Given the description of an element on the screen output the (x, y) to click on. 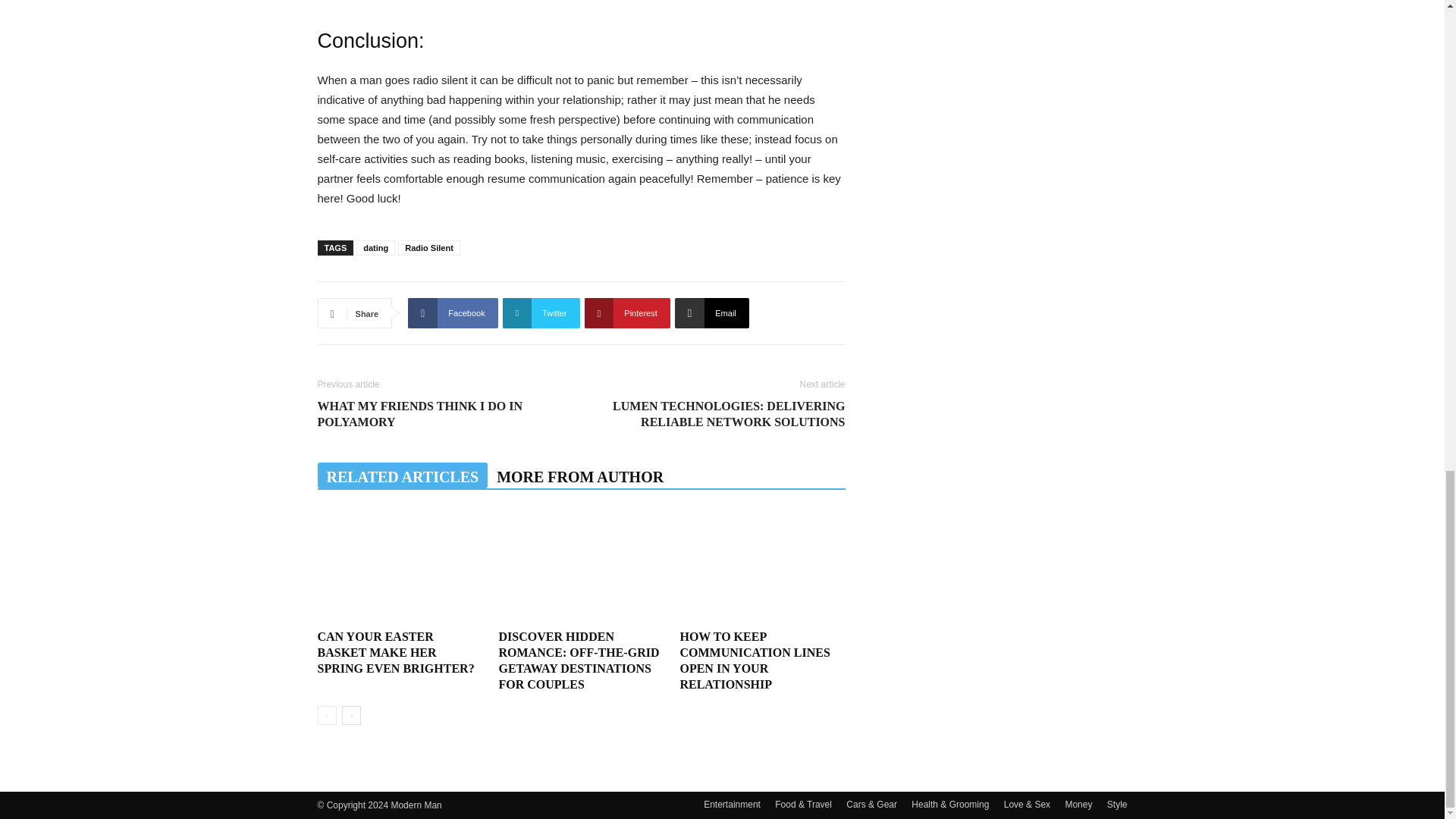
Can Your Easter Basket Make Her Spring Even Brighter? (395, 651)
How to Keep Communication Lines Open in Your Relationship (754, 660)
How to Keep Communication Lines Open in Your Relationship (761, 567)
Can Your Easter Basket Make Her Spring Even Brighter? (399, 567)
